Given the description of an element on the screen output the (x, y) to click on. 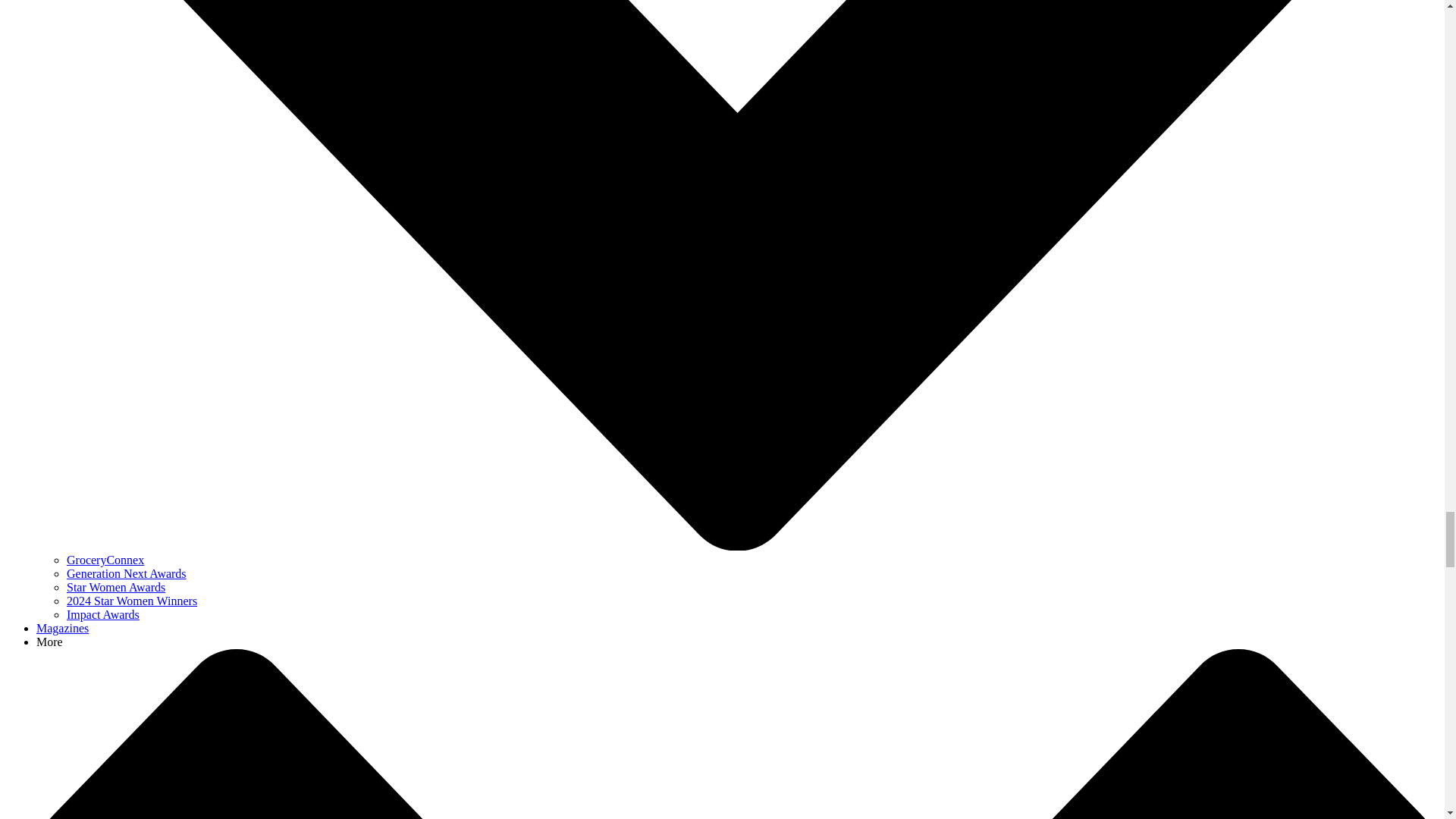
Star Women Awards (115, 586)
GroceryConnex (105, 559)
More (49, 641)
Impact Awards (102, 614)
Magazines (62, 627)
2024 Star Women Winners (131, 600)
Generation Next Awards (126, 573)
